Given the description of an element on the screen output the (x, y) to click on. 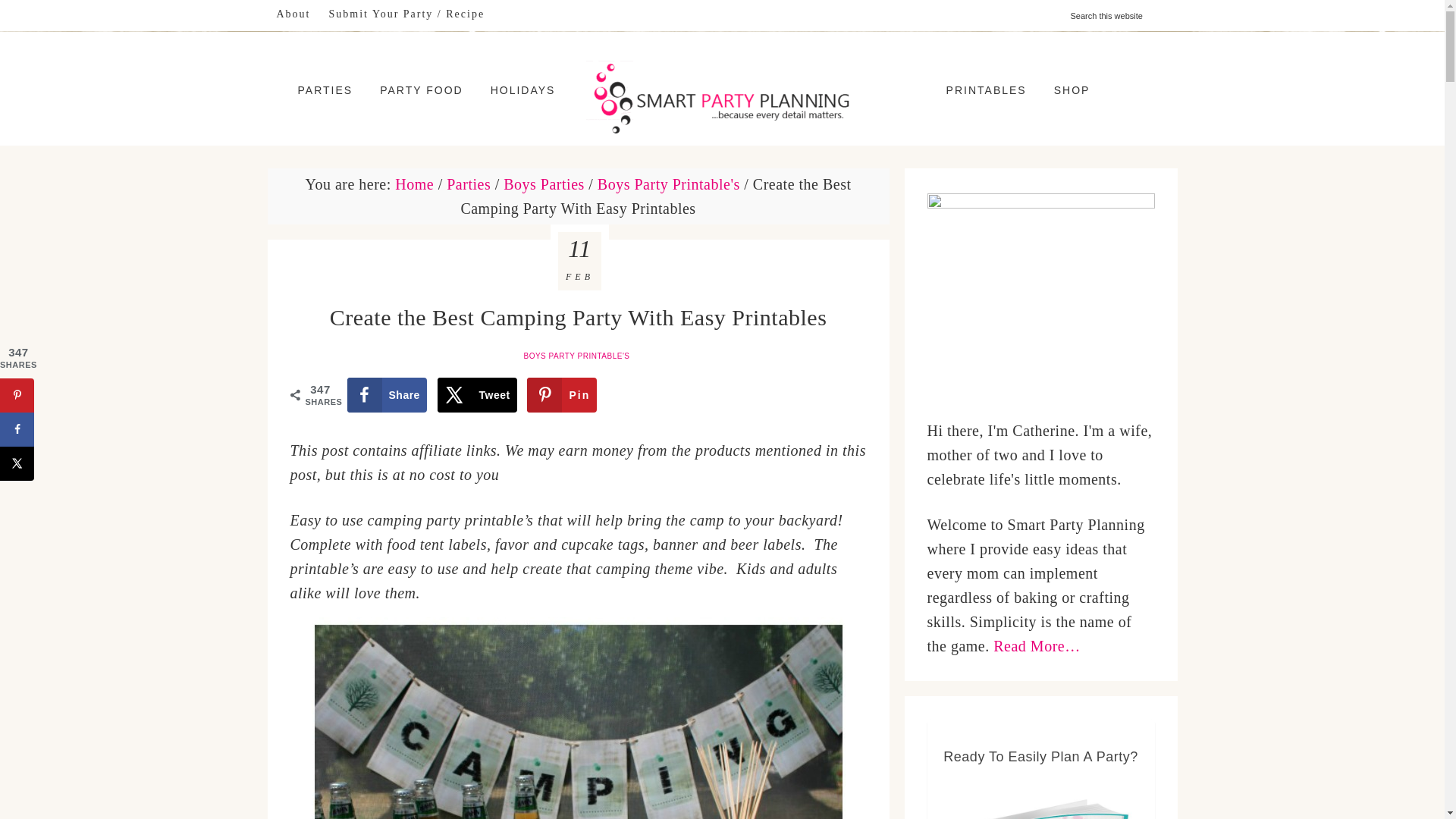
About (292, 14)
SHOP (1072, 89)
PARTIES (324, 89)
PARTY FOOD (421, 89)
Home (413, 184)
Save to Pinterest (16, 395)
PRINTABLES (987, 89)
Parties (468, 184)
Pin (561, 394)
Share on X (16, 463)
